Given the description of an element on the screen output the (x, y) to click on. 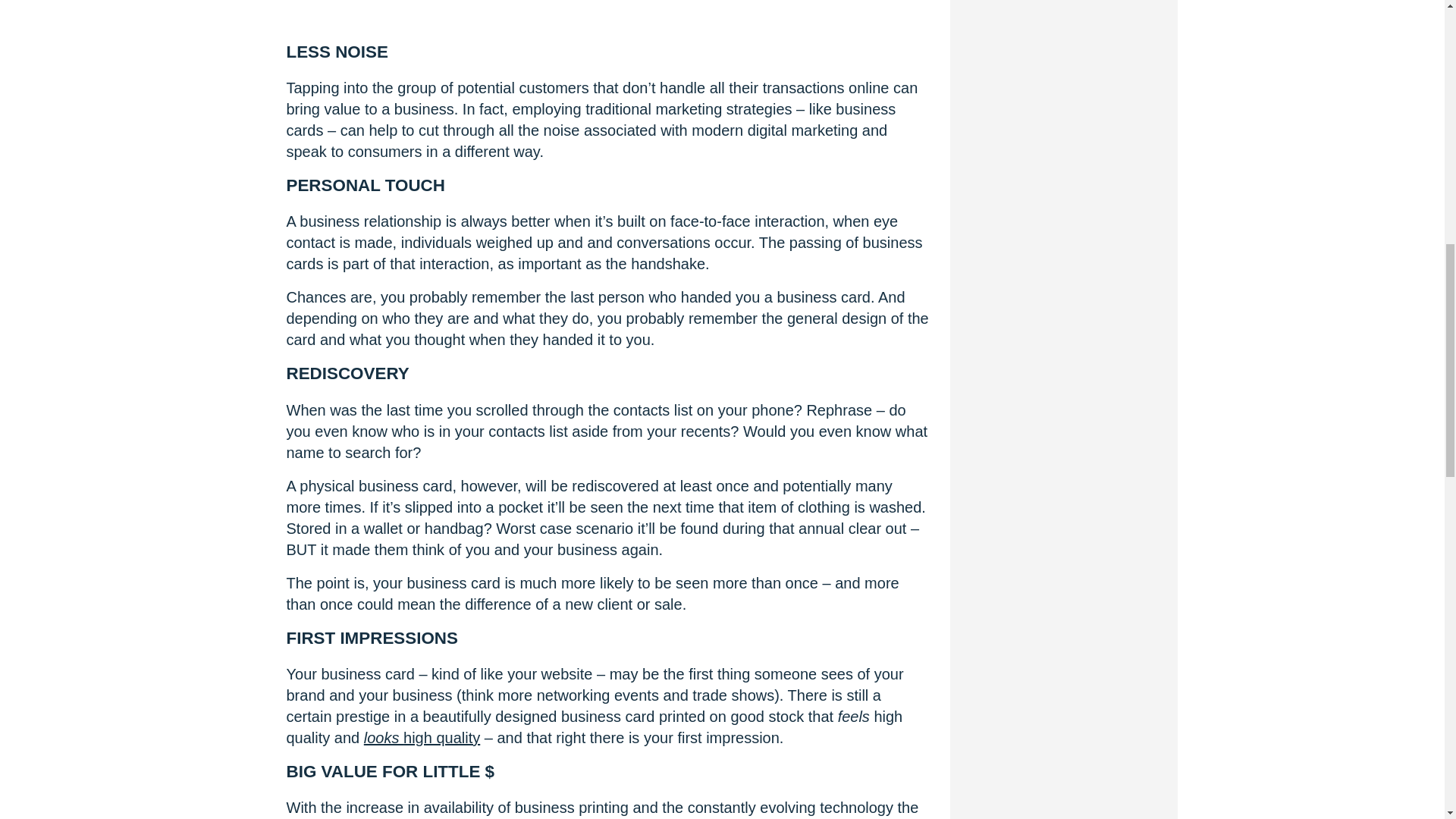
looks high quality (422, 737)
